Given the description of an element on the screen output the (x, y) to click on. 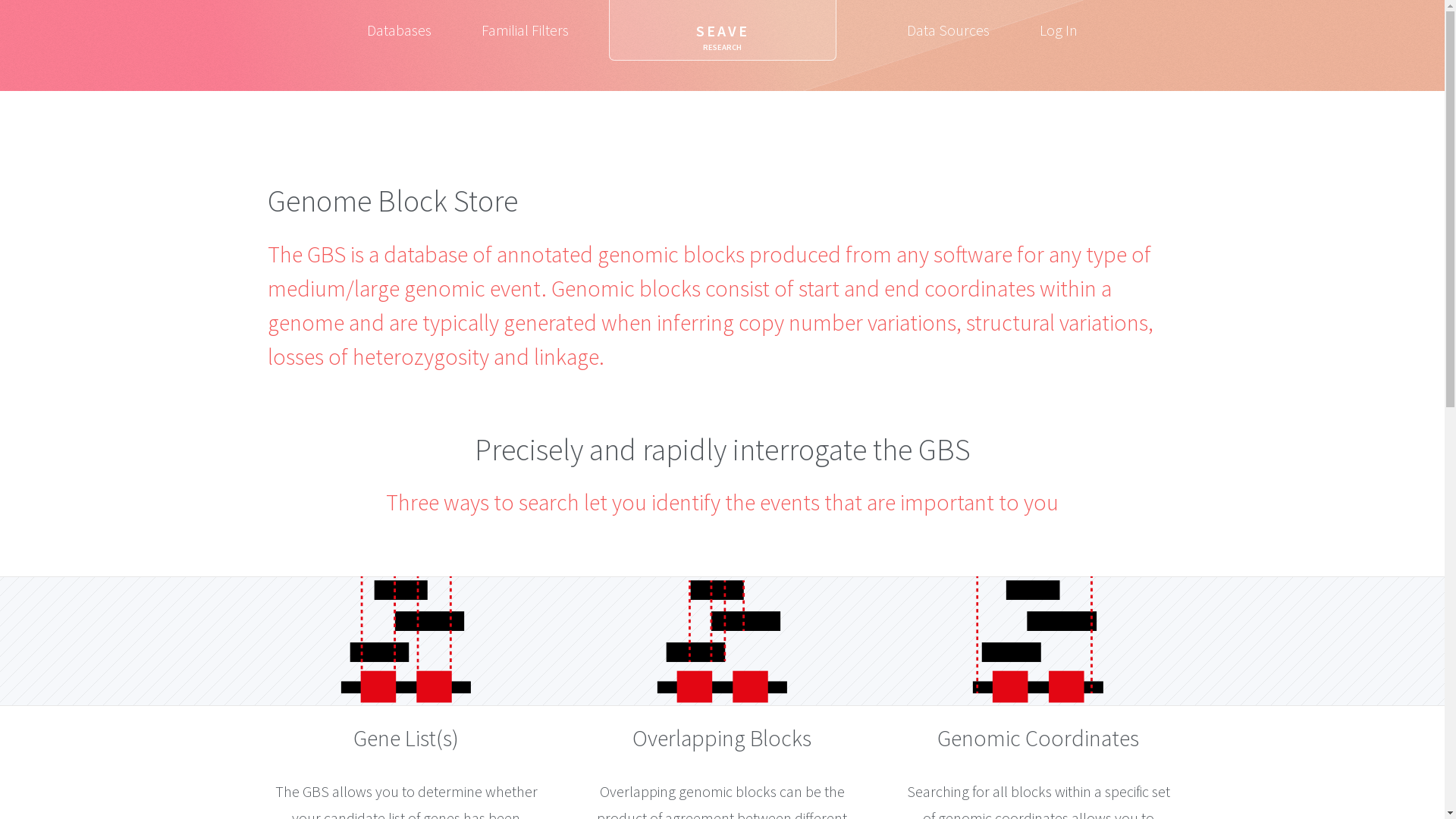
Familial Filters Element type: text (524, 29)
SEAVE
RESEARCH Element type: text (721, 30)
Databases Element type: text (399, 29)
Data Sources Element type: text (948, 29)
Log In Element type: text (1058, 29)
